Given the description of an element on the screen output the (x, y) to click on. 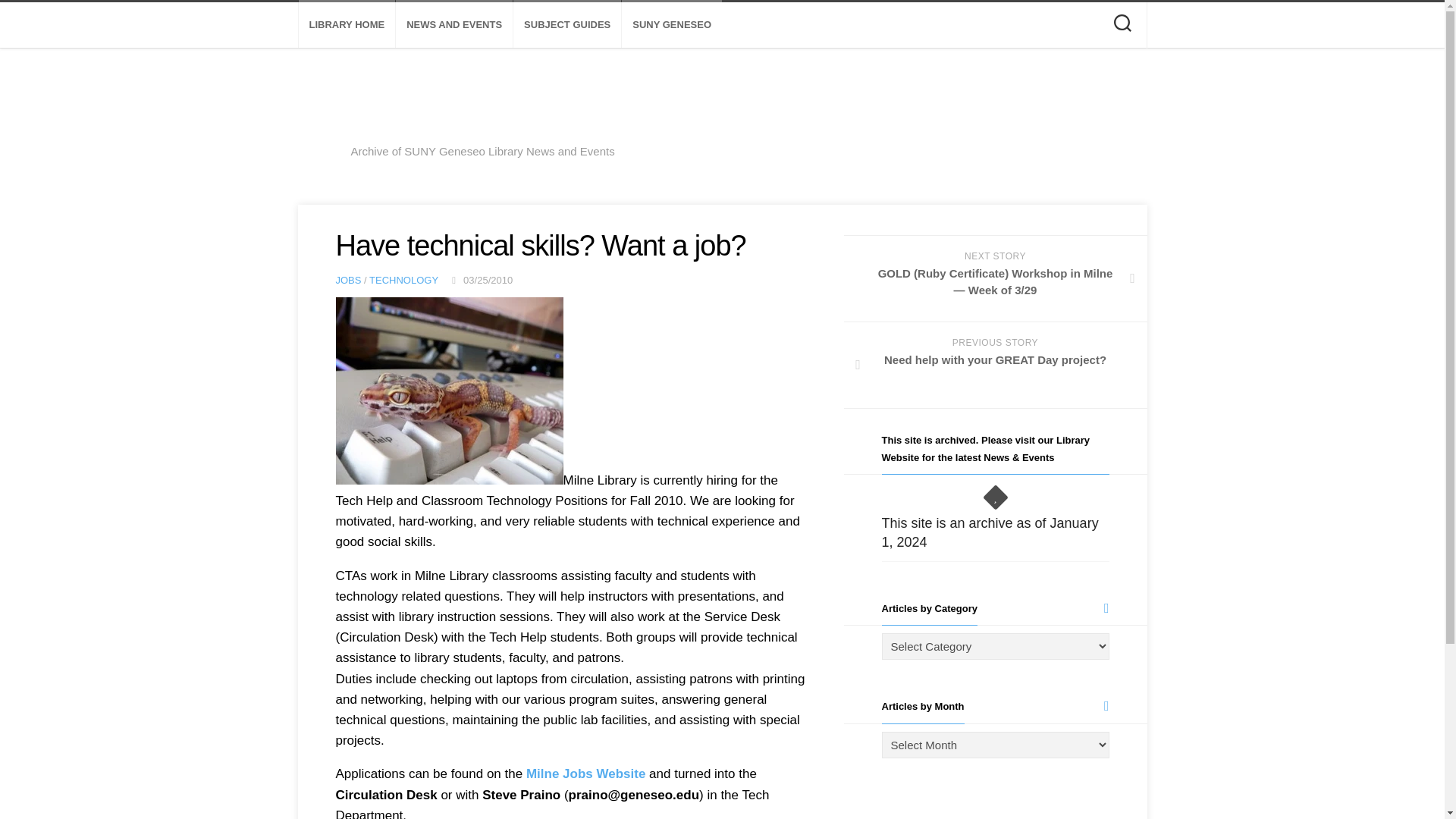
This site is an archive as of January 1, 2024 (988, 532)
Milne Jobs Website (585, 773)
SUNY GENESEO (671, 24)
SUBJECT GUIDES (995, 365)
TECHNOLOGY (567, 24)
JOBS (403, 279)
NEWS AND EVENTS (347, 279)
LIBRARY HOME (454, 24)
